Given the description of an element on the screen output the (x, y) to click on. 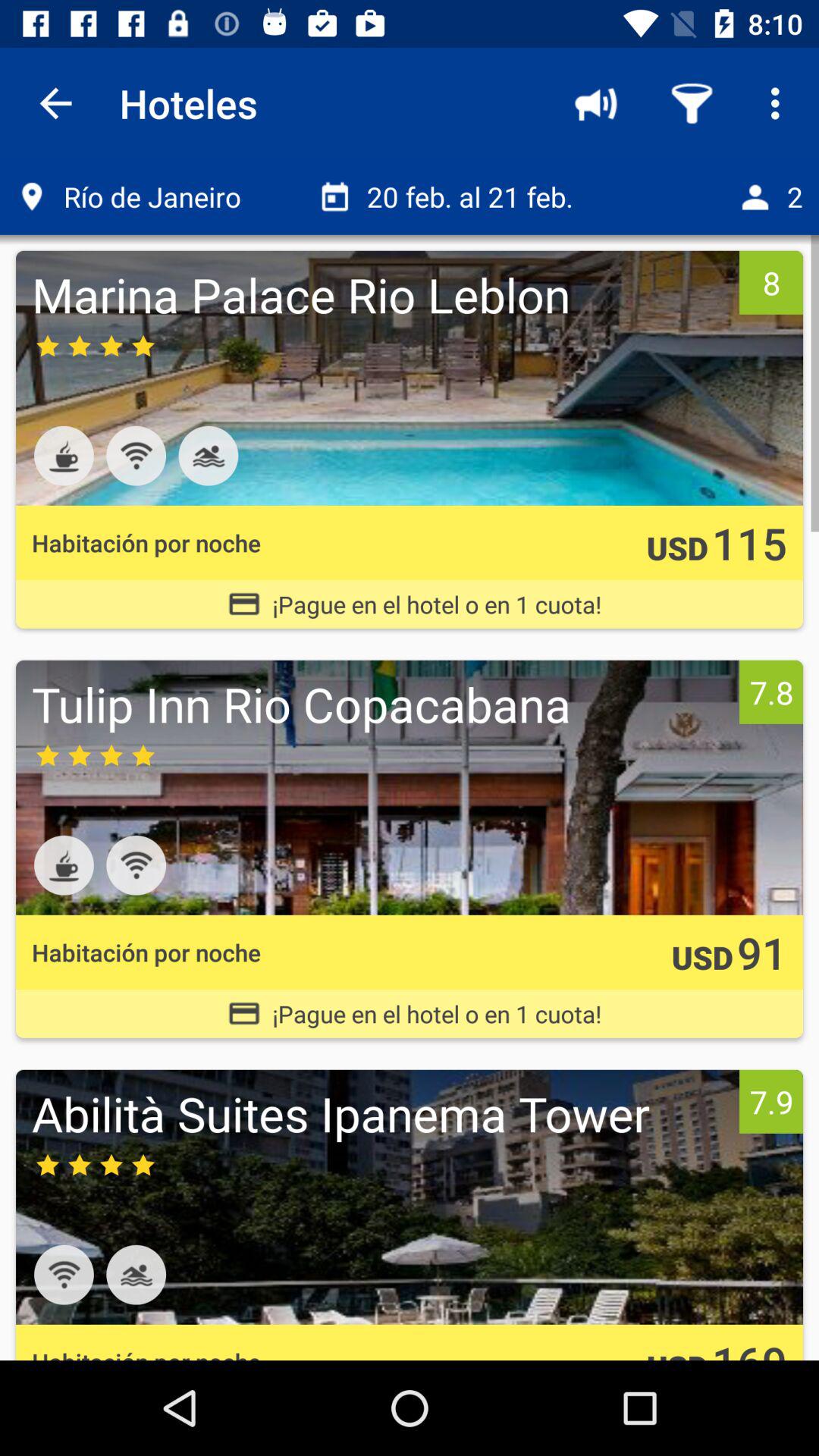
jump to the 91 item (762, 952)
